Given the description of an element on the screen output the (x, y) to click on. 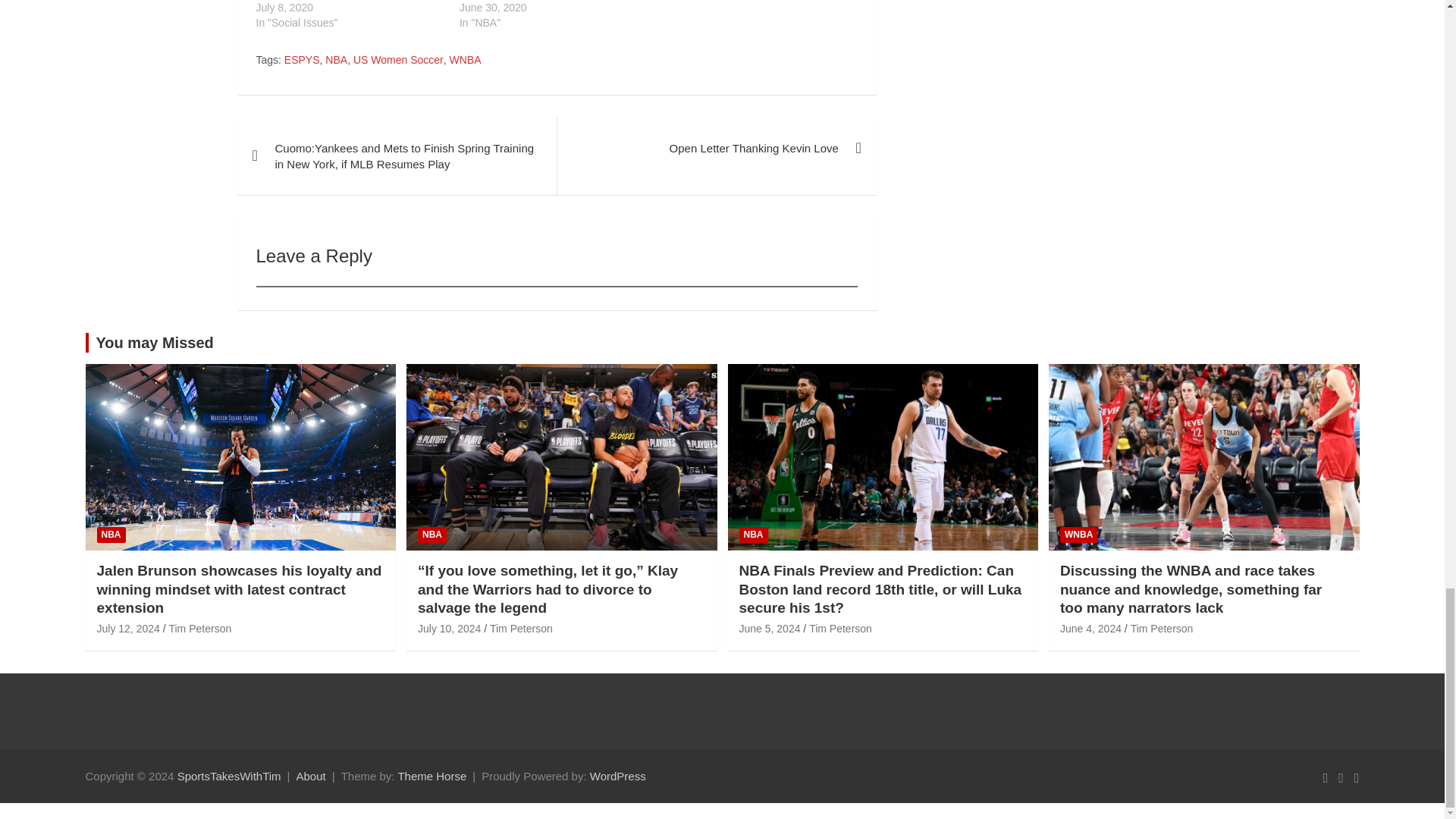
WordPress (617, 775)
Open Letter Thanking Kevin Love (716, 148)
Theme Horse (431, 775)
WNBA (464, 60)
NBA (335, 60)
ESPYS (301, 60)
SportsTakesWithTim (229, 775)
US Women Soccer (398, 60)
